Given the description of an element on the screen output the (x, y) to click on. 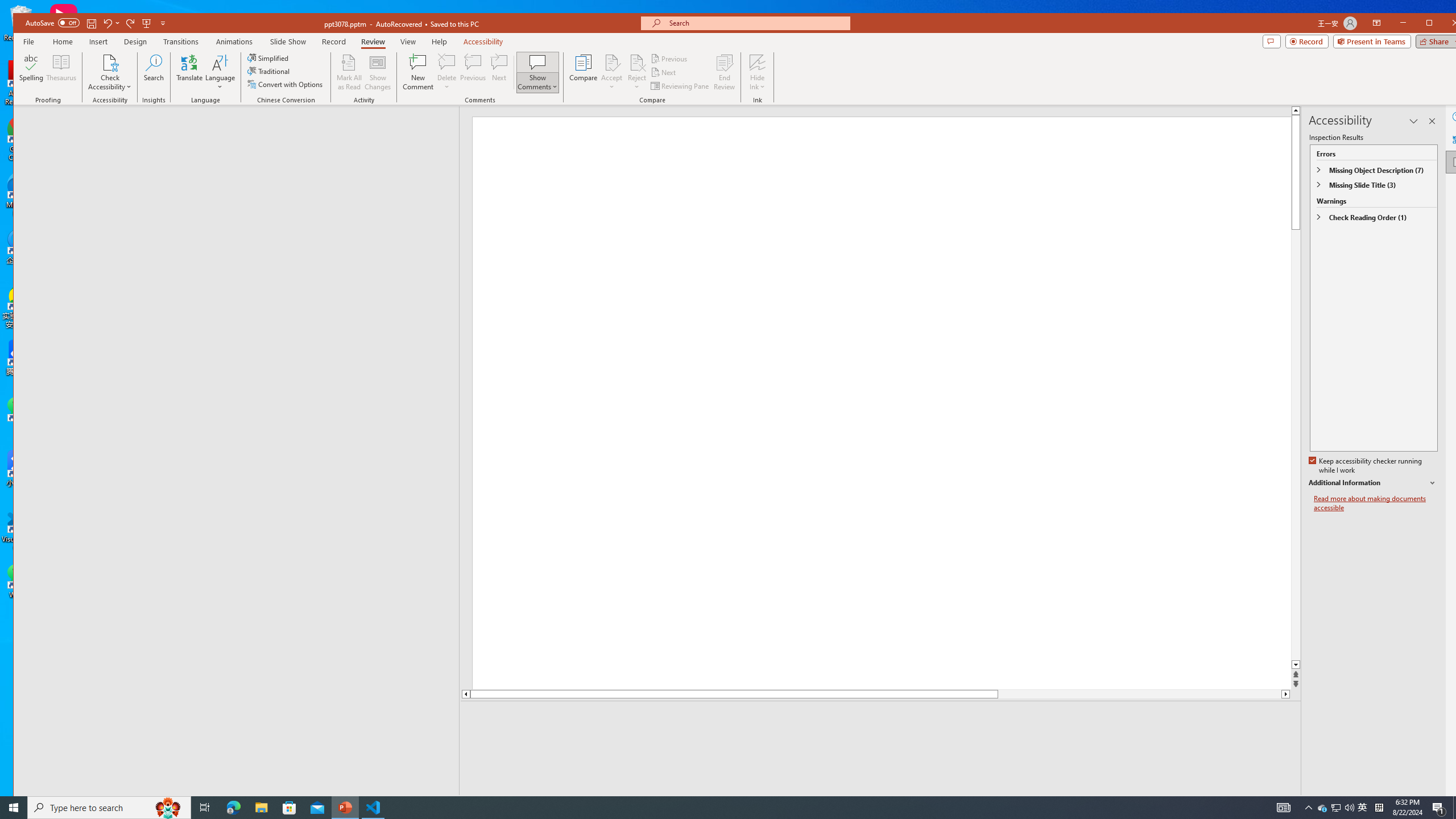
Check Accessibility (109, 61)
Thesaurus... (61, 72)
Language (219, 72)
Slide Notes (881, 717)
Show Comments (537, 72)
Reject Change (636, 61)
